Given the description of an element on the screen output the (x, y) to click on. 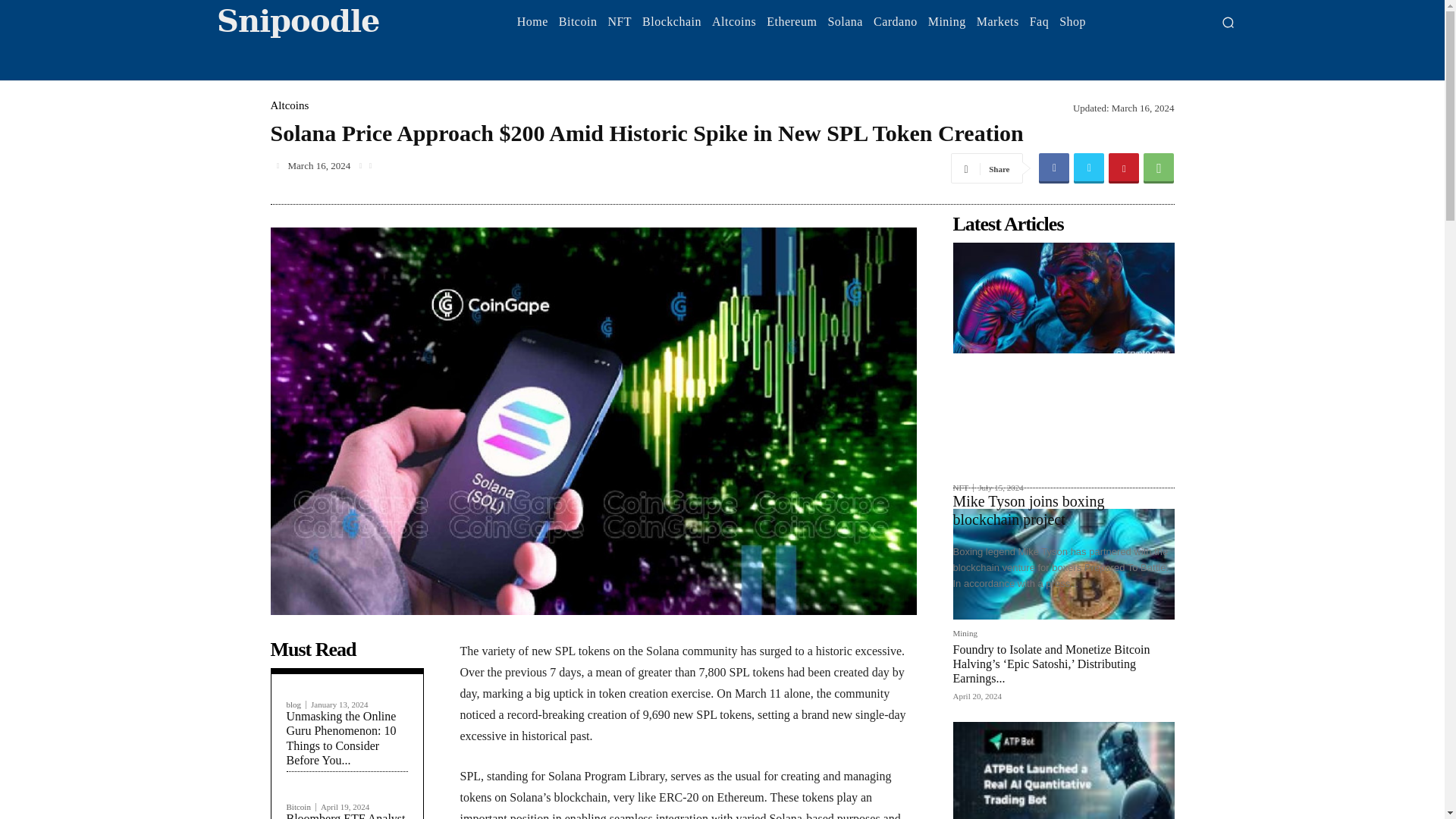
Facebook (1053, 168)
WhatsApp (1157, 168)
NFT (619, 22)
Shop (1072, 22)
Pinterest (1123, 168)
Home (532, 22)
Altcoins (733, 22)
Ethereum (791, 22)
Markets (998, 22)
Solana (844, 22)
Bitcoin (577, 22)
Mining (947, 22)
Cardano (895, 22)
